Given the description of an element on the screen output the (x, y) to click on. 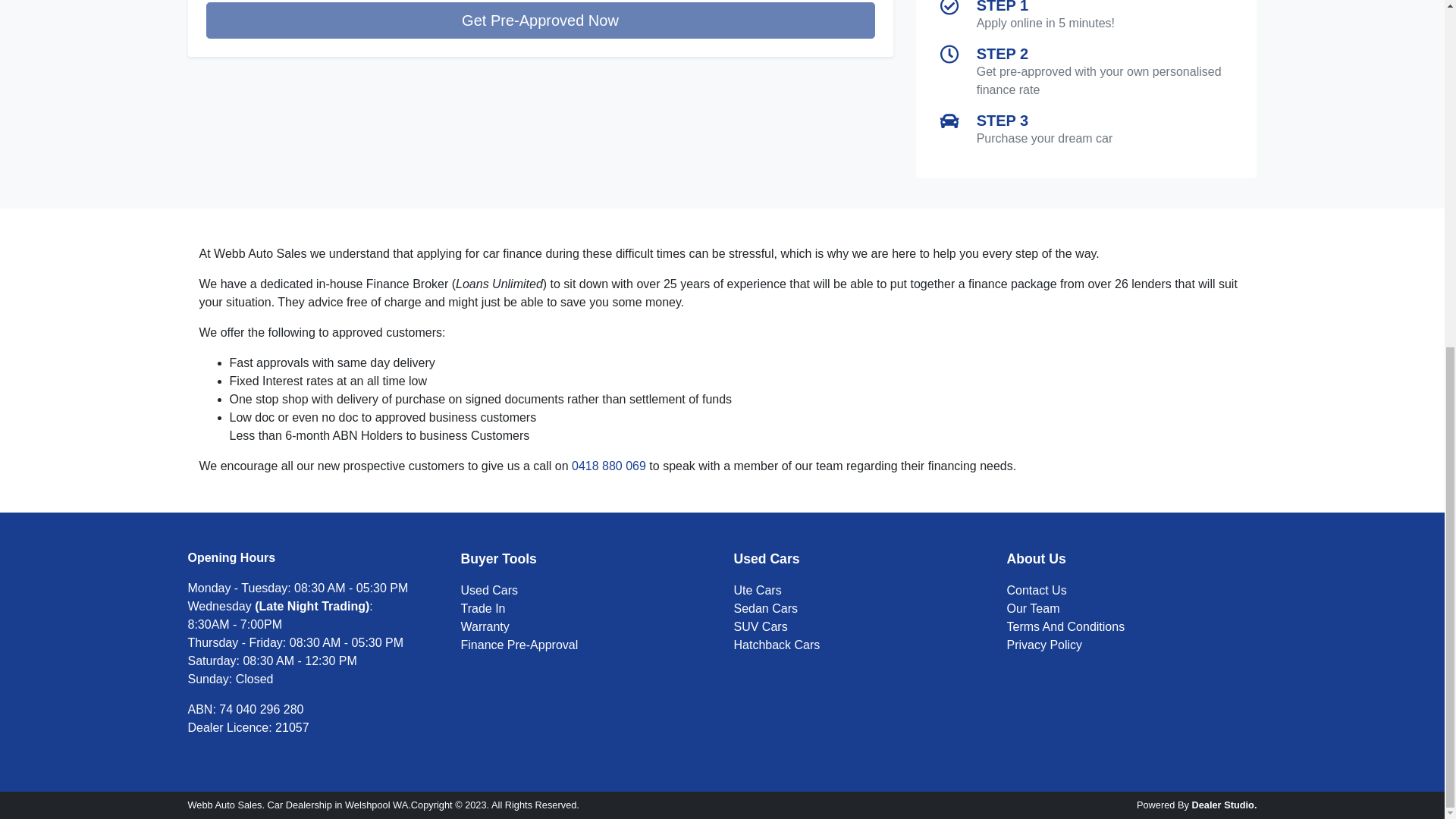
Get Pre-Approved Now (540, 20)
Contact Us (1037, 590)
Terms And Conditions (1066, 626)
Sedan Cars (765, 608)
Ute Cars (757, 590)
Used Cars (489, 590)
Our Team (1033, 608)
Warranty (485, 626)
Hatchback Cars (777, 644)
0418 880 069 (609, 465)
Trade In (483, 608)
Finance Pre-Approval (519, 644)
Privacy Policy (1045, 644)
SUV Cars (760, 626)
Dealer Studio. (1223, 804)
